Given the description of an element on the screen output the (x, y) to click on. 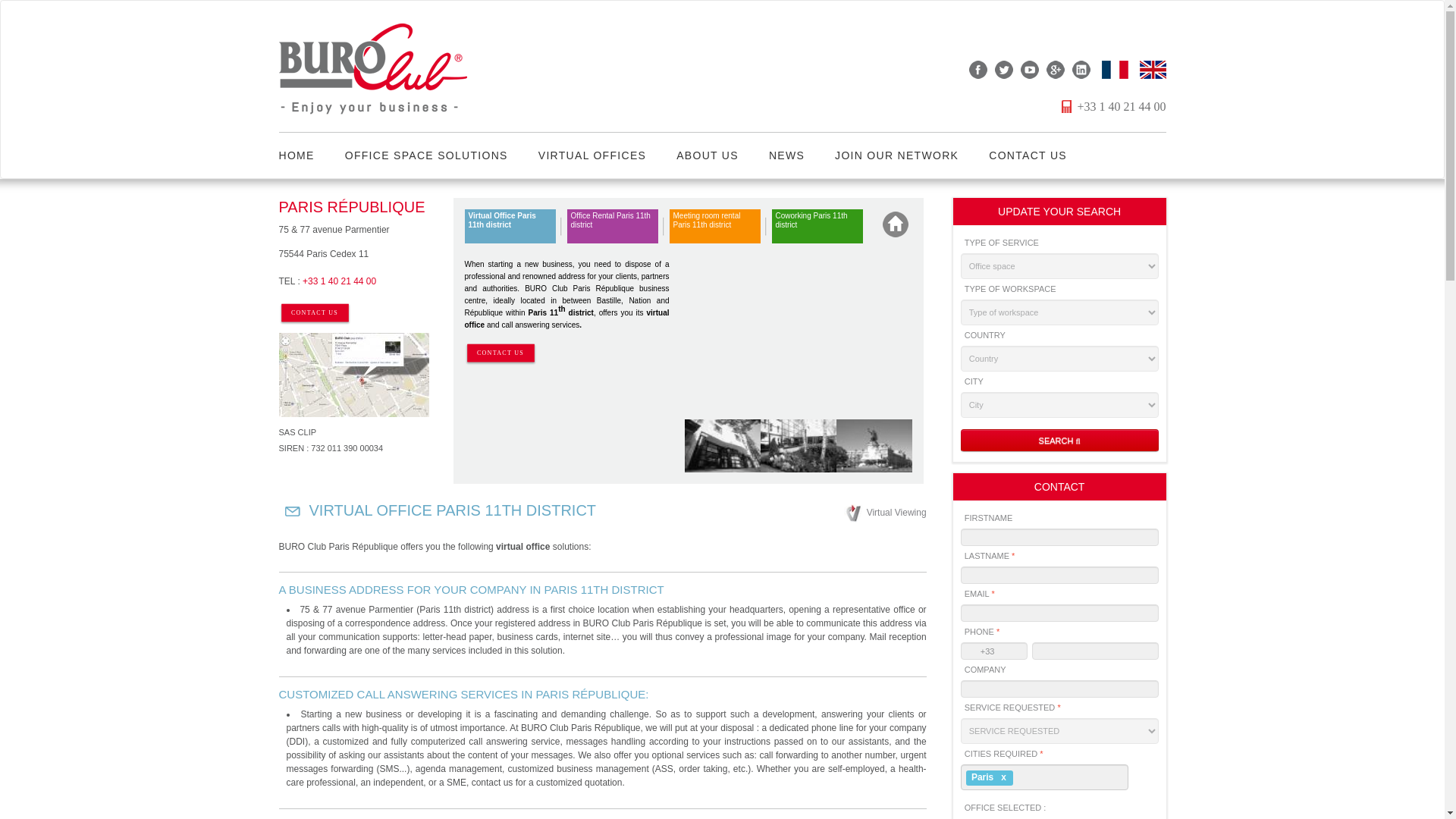
Meeting room rental Paris 11th district (714, 226)
Twitter (1000, 69)
ABOUT US (707, 155)
BURO Club France (1109, 69)
CONTACT US (314, 313)
About us (707, 155)
OFFICE SPACE SOLUTIONS (426, 155)
BURO Club (381, 64)
CONTACT US (499, 354)
VIRTUAL OFFICES (592, 155)
Youtube (1026, 69)
Coworking Paris 11th district (817, 226)
JOIN OUR NETWORK (896, 155)
Linkedin (1077, 69)
Virtual Viewing (885, 512)
